Given the description of an element on the screen output the (x, y) to click on. 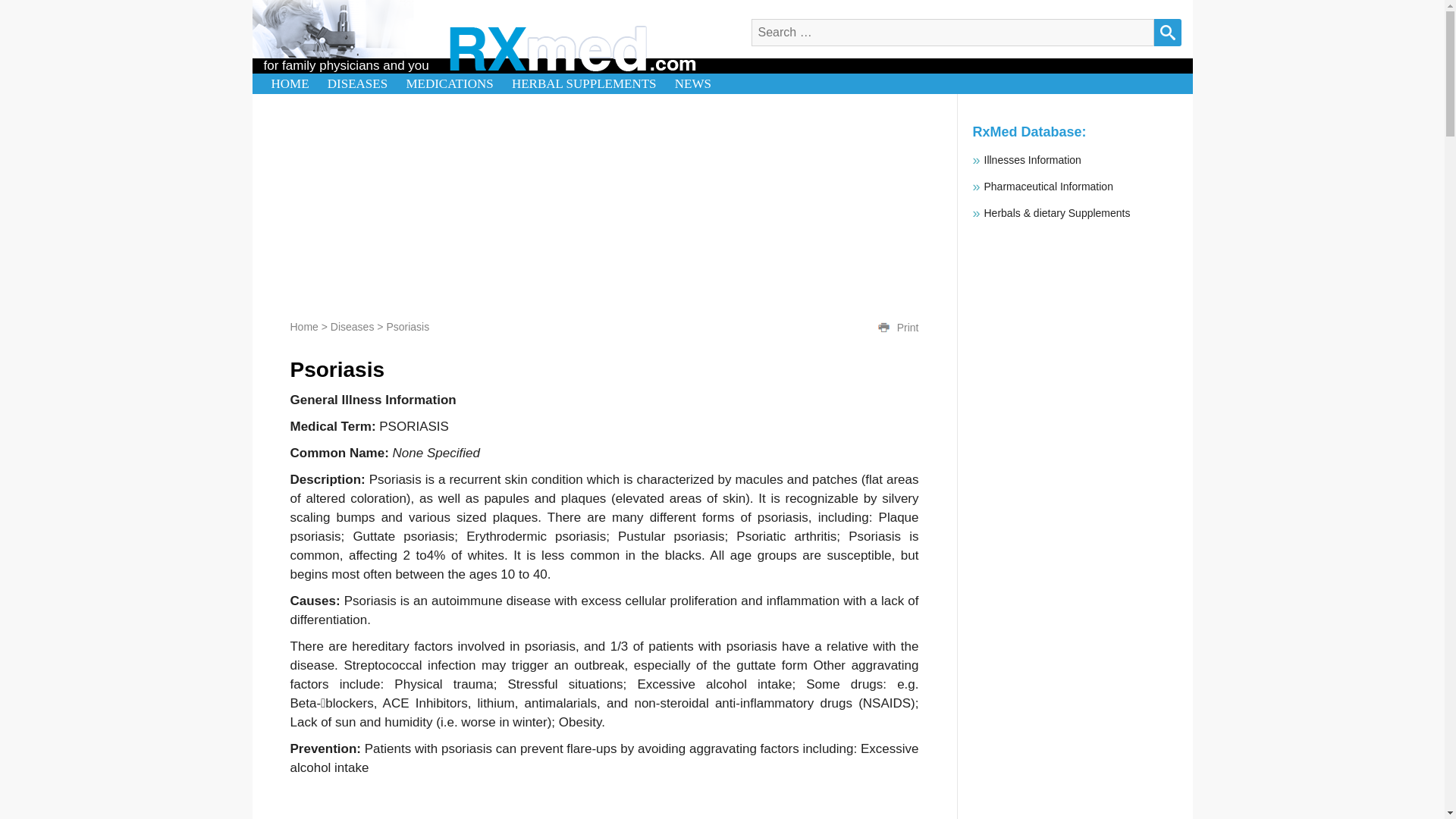
MEDICATIONS (448, 83)
Illnesses Information (1032, 159)
Print (883, 327)
Go to RxMed: Diseases and Preparations' Description. (303, 326)
HOME (290, 83)
Go to Diseases. (352, 326)
DISEASES (357, 83)
HERBAL SUPPLEMENTS (583, 83)
Illnesses Information (1032, 159)
RxMed: Diseases and Preparations' Description (571, 49)
Home (303, 326)
The website for Family Physicians and You (290, 83)
Diseases (352, 326)
Print (907, 327)
Pharmaceutical Information (1048, 186)
